Given the description of an element on the screen output the (x, y) to click on. 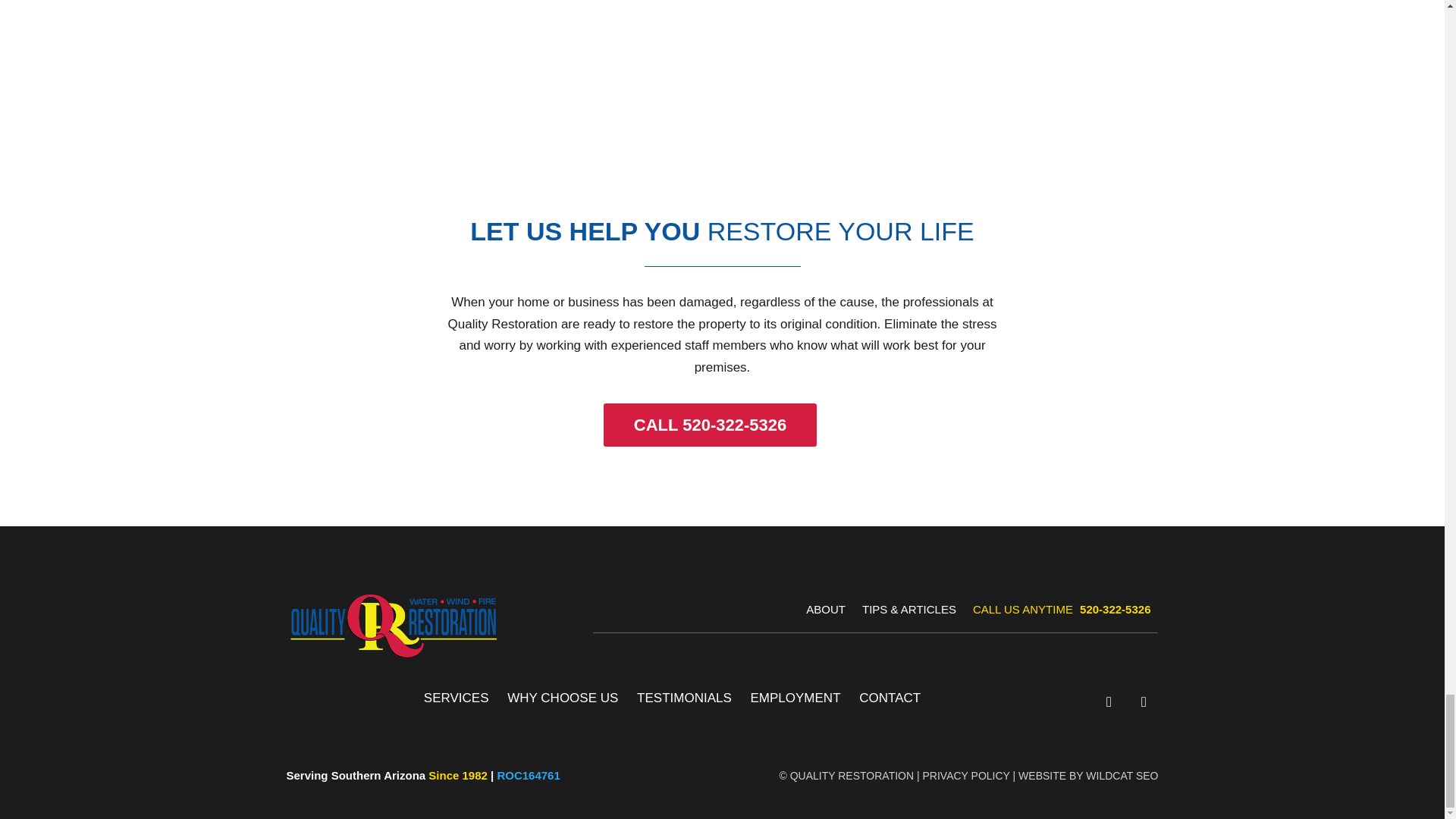
Follow on X (1143, 701)
Follow on Facebook (1109, 701)
Quality Restoration 24 Hour Emergency Services (722, 97)
logo (392, 625)
